Given the description of an element on the screen output the (x, y) to click on. 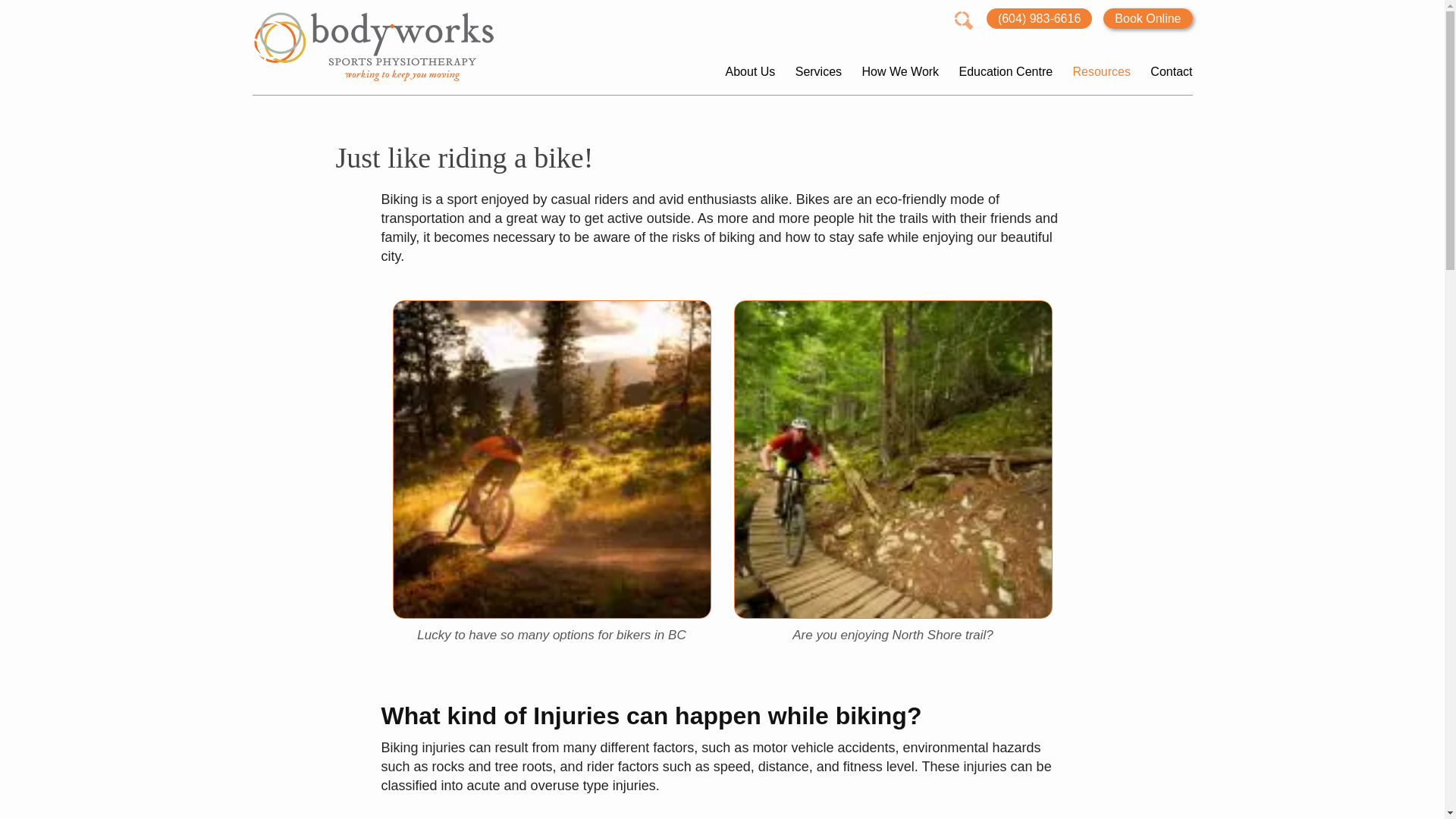
Book Online (1147, 18)
Resources (1101, 71)
Search (27, 11)
How We Work (900, 71)
Services (818, 71)
Education Centre (1005, 71)
About Us (749, 71)
